Given the description of an element on the screen output the (x, y) to click on. 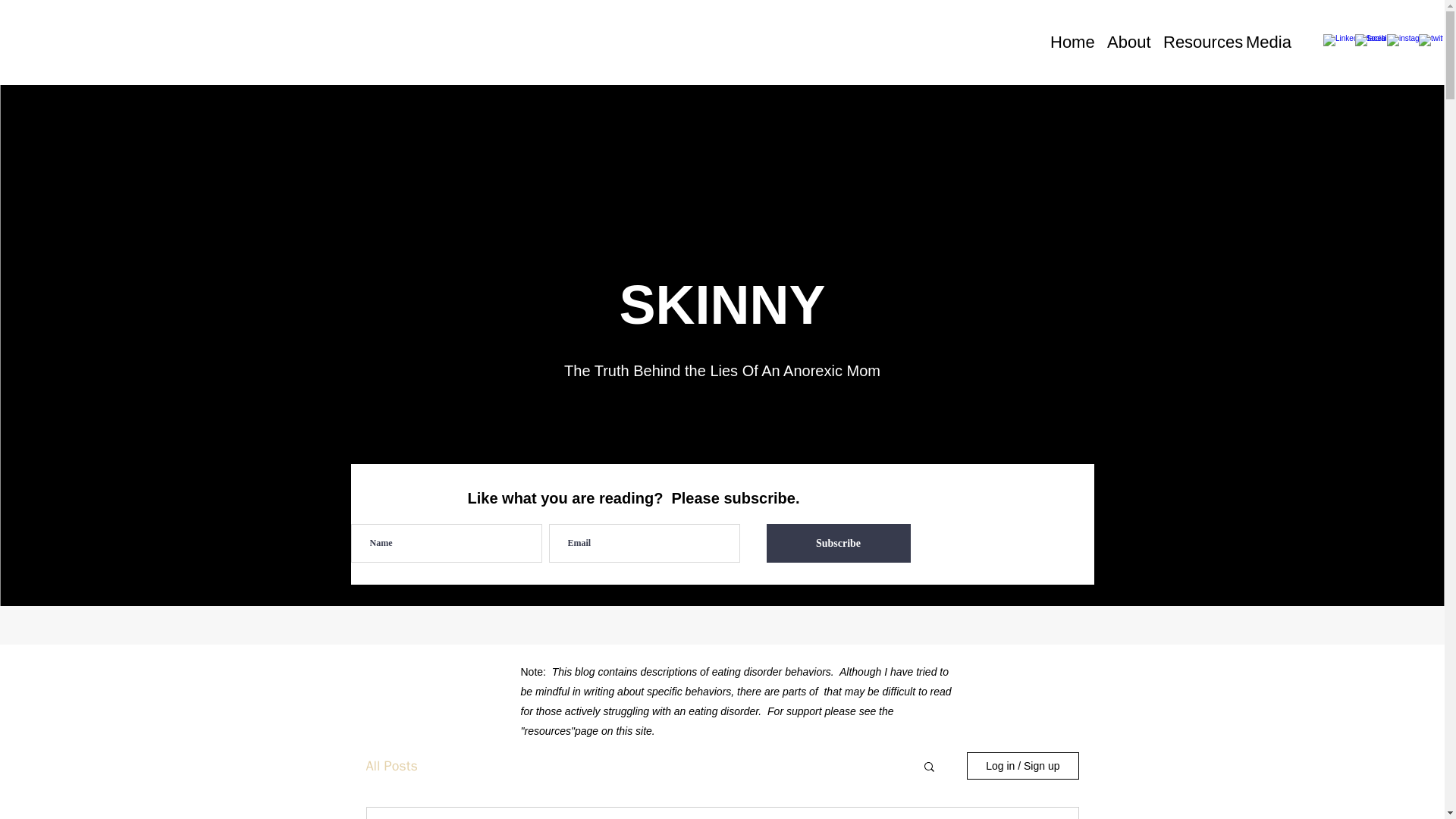
Media (1266, 41)
All Posts (390, 765)
Subscribe (837, 543)
About (1127, 41)
Resources (1197, 41)
Home (1070, 41)
